Given the description of an element on the screen output the (x, y) to click on. 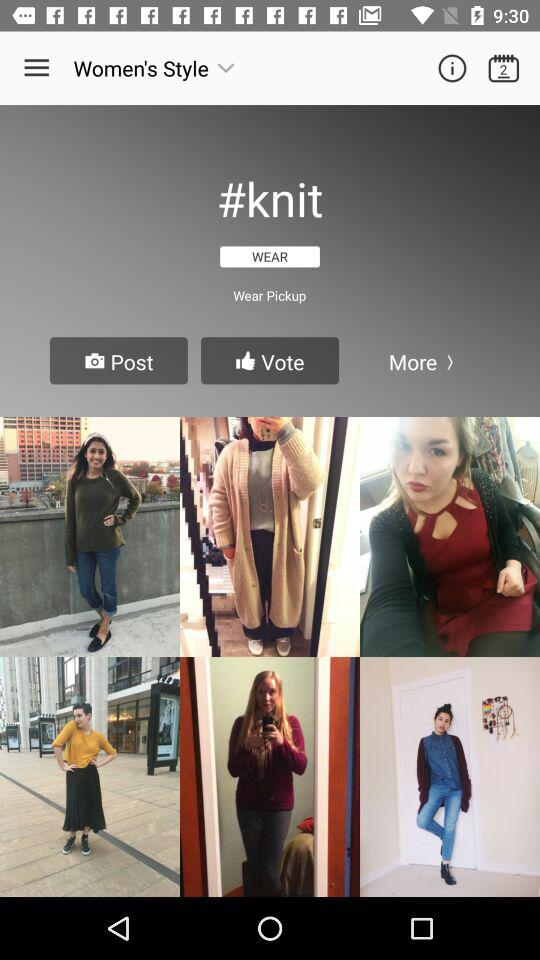
information (452, 68)
